Given the description of an element on the screen output the (x, y) to click on. 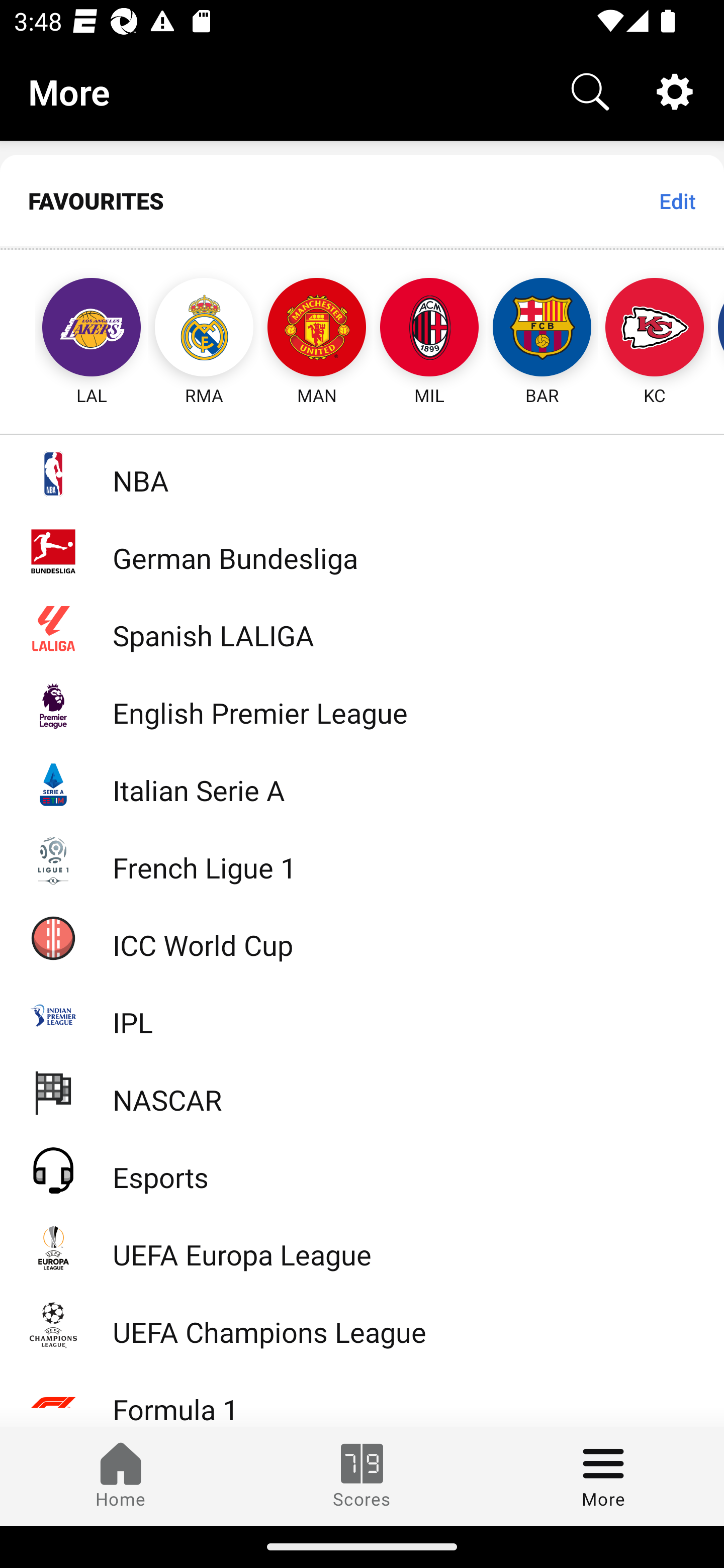
Search (590, 90)
Settings (674, 90)
Edit (676, 200)
LAL Los Angeles Lakers (73, 328)
RMA Real Madrid (203, 328)
MAN Manchester United (316, 328)
MIL AC Milan (428, 328)
BAR Barcelona (541, 328)
KC Kansas City Chiefs (654, 328)
NBA (362, 473)
German Bundesliga (362, 550)
Spanish LALIGA (362, 627)
English Premier League (362, 705)
Italian Serie A (362, 782)
French Ligue 1 (362, 859)
ICC World Cup (362, 937)
IPL (362, 1014)
NASCAR (362, 1091)
Esports (362, 1169)
UEFA Europa League (362, 1246)
UEFA Champions League (362, 1324)
Home (120, 1475)
Scores (361, 1475)
